Given the description of an element on the screen output the (x, y) to click on. 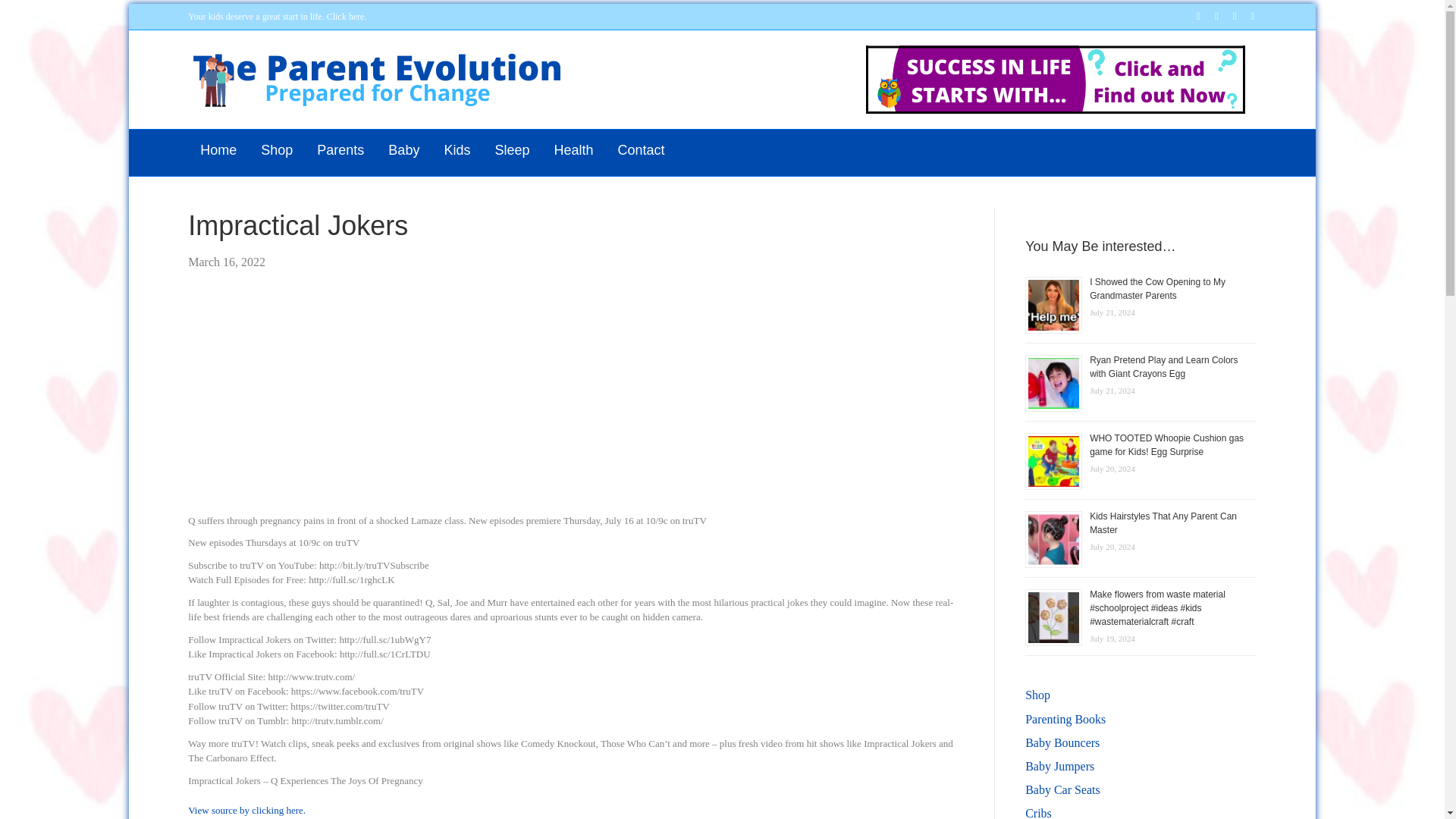
Your kids deserve a great start in life. Click here. (276, 16)
Facebook (1190, 15)
Pinterest (1227, 15)
Shop (276, 150)
Home (217, 150)
Twitter (1208, 15)
Instagram (1245, 15)
